Given the description of an element on the screen output the (x, y) to click on. 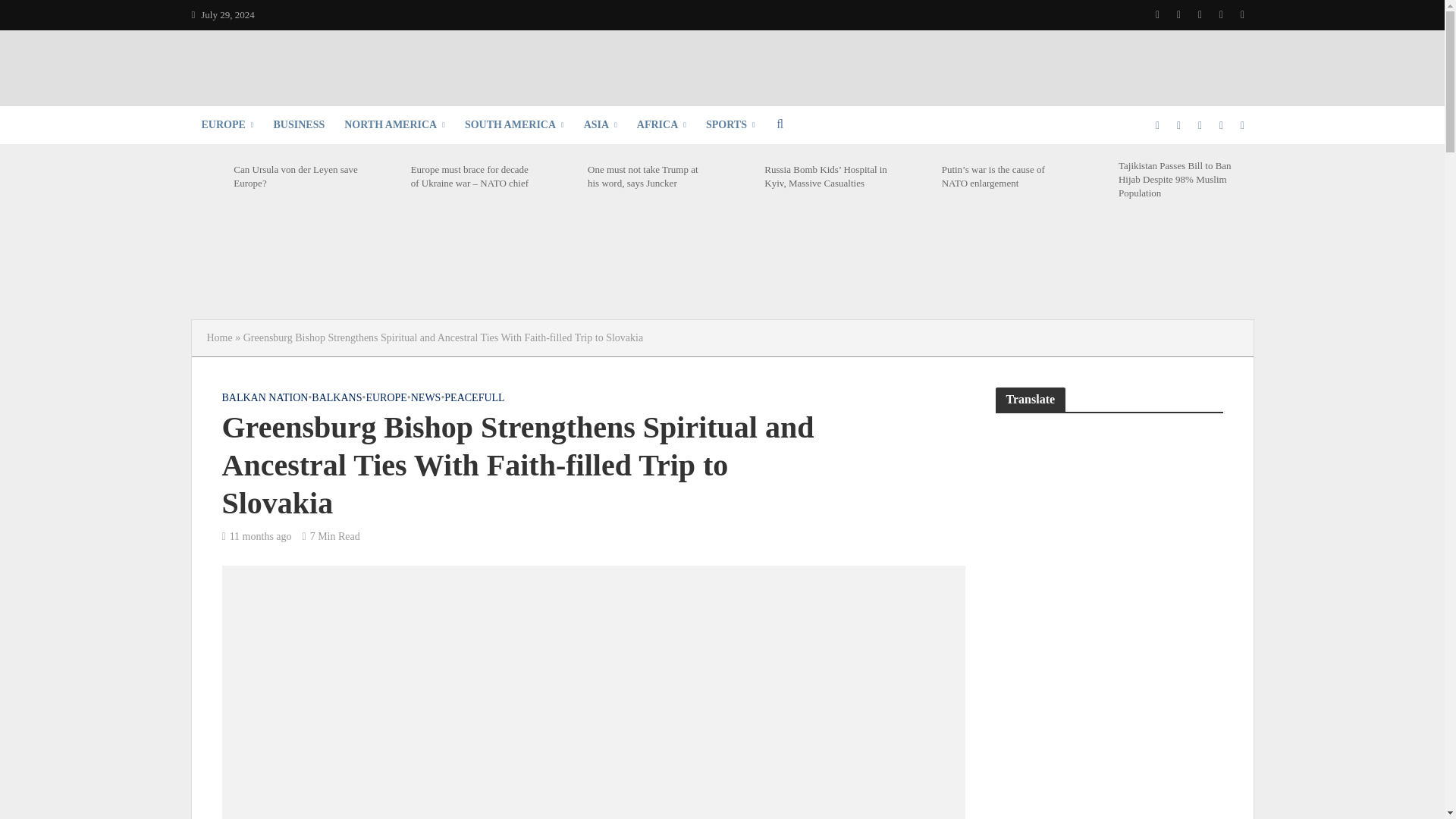
One must not take Trump at his word, says Juncker (561, 176)
Can Ursula von der Leyen save Europe? (207, 176)
NORTH AMERICA (394, 125)
EUROPE (226, 125)
BUSINESS (298, 125)
ASIA (600, 125)
SOUTH AMERICA (513, 125)
